Given the description of an element on the screen output the (x, y) to click on. 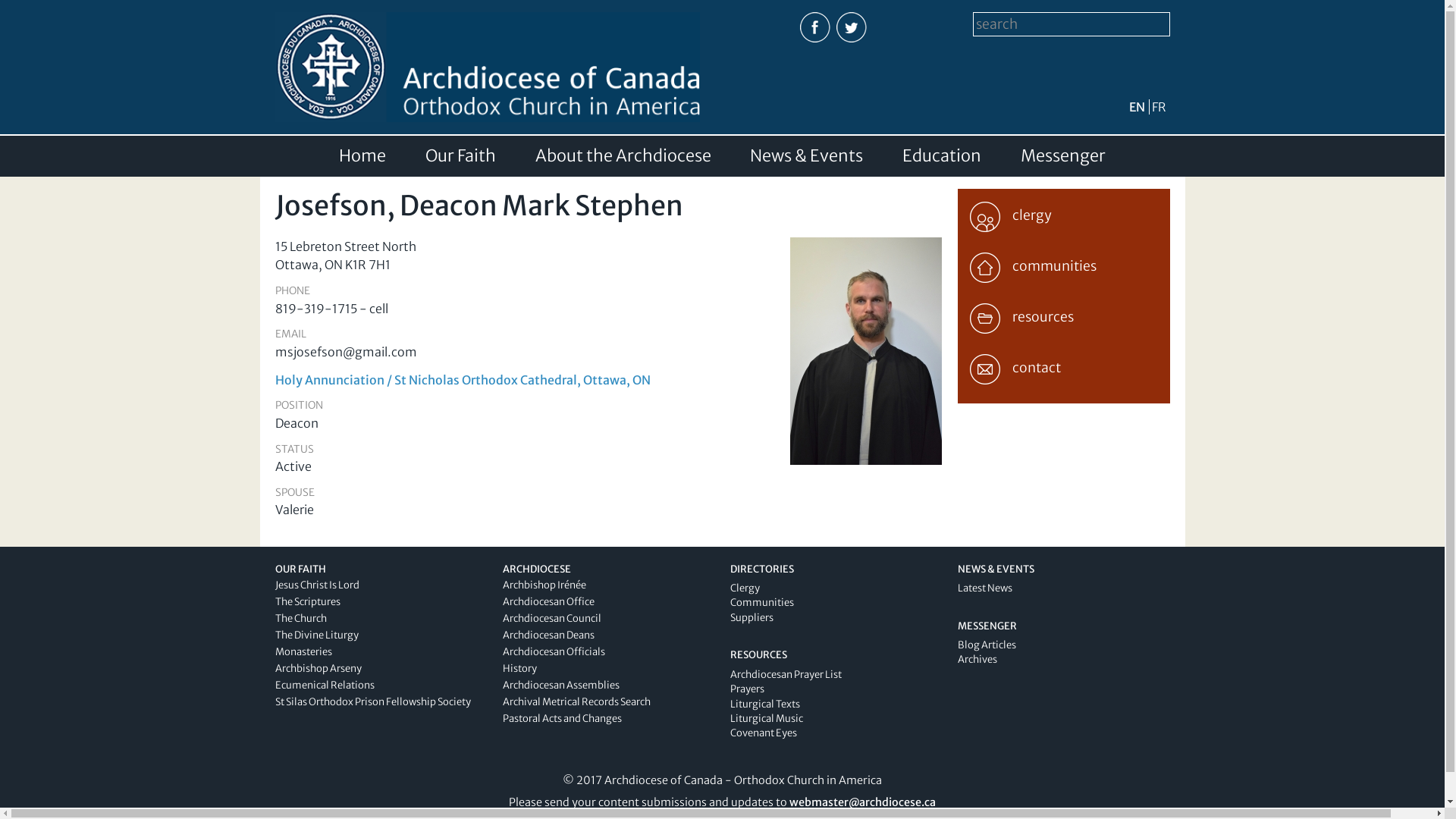
History Element type: text (519, 668)
Archdiocesan Assemblies Element type: text (560, 684)
Home Element type: text (361, 155)
Messenger Element type: text (1062, 155)
Liturgical Music Element type: text (765, 718)
Archdiocesan Deans Element type: text (547, 634)
Communities Element type: text (761, 602)
contact Element type: text (1063, 366)
resources Element type: text (1063, 315)
The Divine Liturgy Element type: text (315, 634)
Archdiocesan Council Element type: text (551, 617)
EN Element type: text (1136, 106)
Monasteries Element type: text (302, 651)
Jesus Christ Is Lord Element type: text (316, 584)
communities Element type: text (1063, 264)
Blog Articles Element type: text (986, 644)
Archives Element type: text (976, 658)
Archdiocesan Office Element type: text (547, 601)
clergy Element type: text (1063, 213)
Archdiocesan Prayer List Element type: text (784, 674)
Archival Metrical Records Search Element type: text (575, 701)
About the Archdiocese Element type: text (623, 155)
Education Element type: text (941, 155)
Latest News Element type: text (984, 587)
Covenant Eyes Element type: text (762, 732)
Josefson, Deacon Mark Stephen Element type: hover (865, 455)
Prayers Element type: text (746, 688)
The Church Element type: text (300, 617)
Our Faith Element type: text (460, 155)
FR Element type: text (1158, 106)
Ecumenical Relations Element type: text (323, 684)
Archdiocesan Officials Element type: text (553, 651)
Pastoral Acts and Changes Element type: text (561, 718)
webmaster@archdiocese.ca Element type: text (862, 802)
News & Events Element type: text (805, 155)
Archbishop Arseny Element type: text (317, 668)
Clergy Element type: text (744, 587)
Skip to main content Element type: text (688, 1)
Liturgical Texts Element type: text (764, 703)
The Scriptures Element type: text (306, 601)
St Silas Orthodox Prison Fellowship Society Element type: text (372, 701)
Suppliers Element type: text (750, 617)
